Given the description of an element on the screen output the (x, y) to click on. 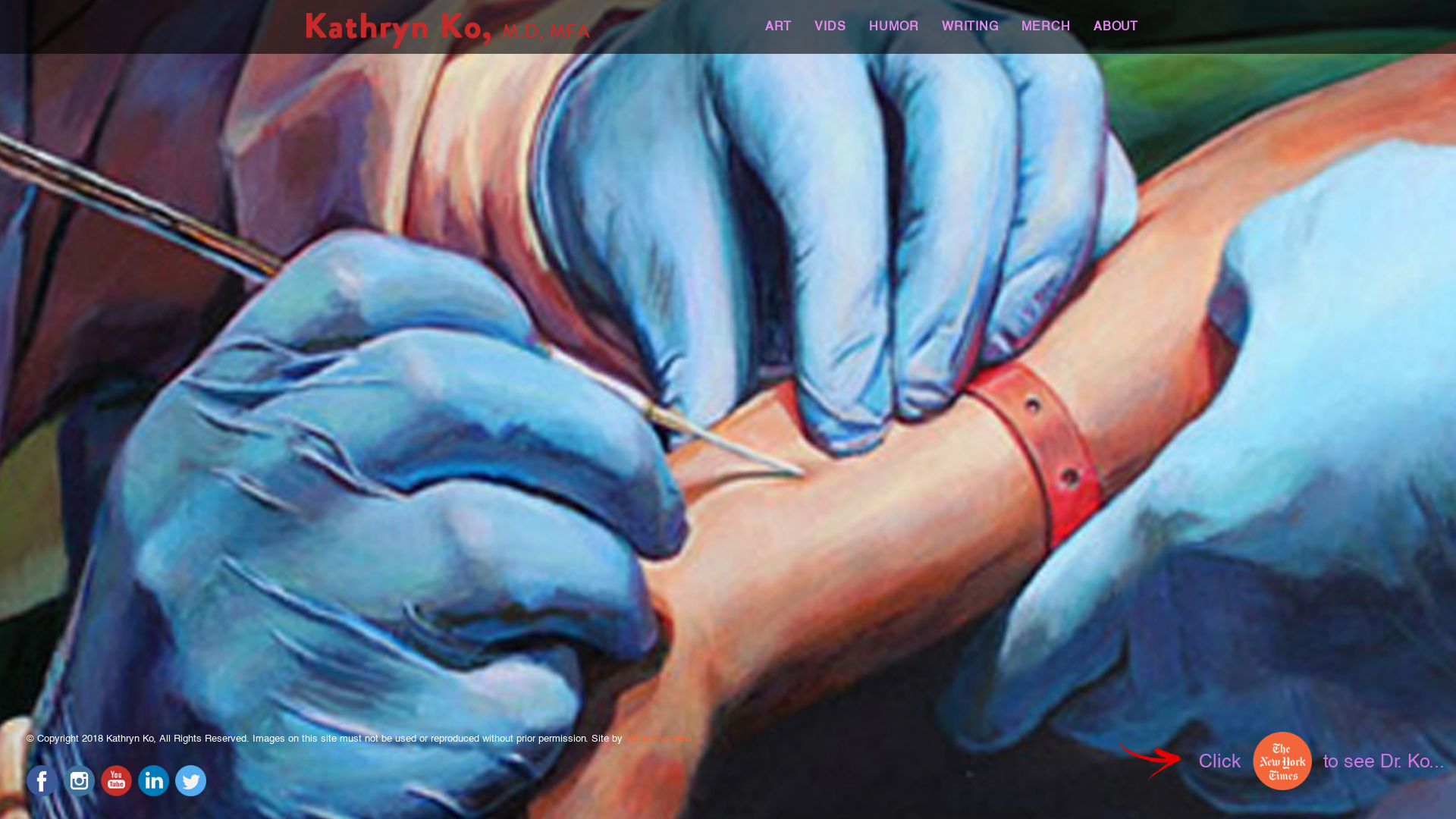
MERCH Element type: text (1046, 36)
VIDS Element type: text (830, 36)
HUMOR Element type: text (893, 36)
WRITING Element type: text (970, 36)
ABOUT Element type: text (1115, 36)
VetradSystems Element type: text (658, 737)
ART Element type: text (778, 36)
